Given the description of an element on the screen output the (x, y) to click on. 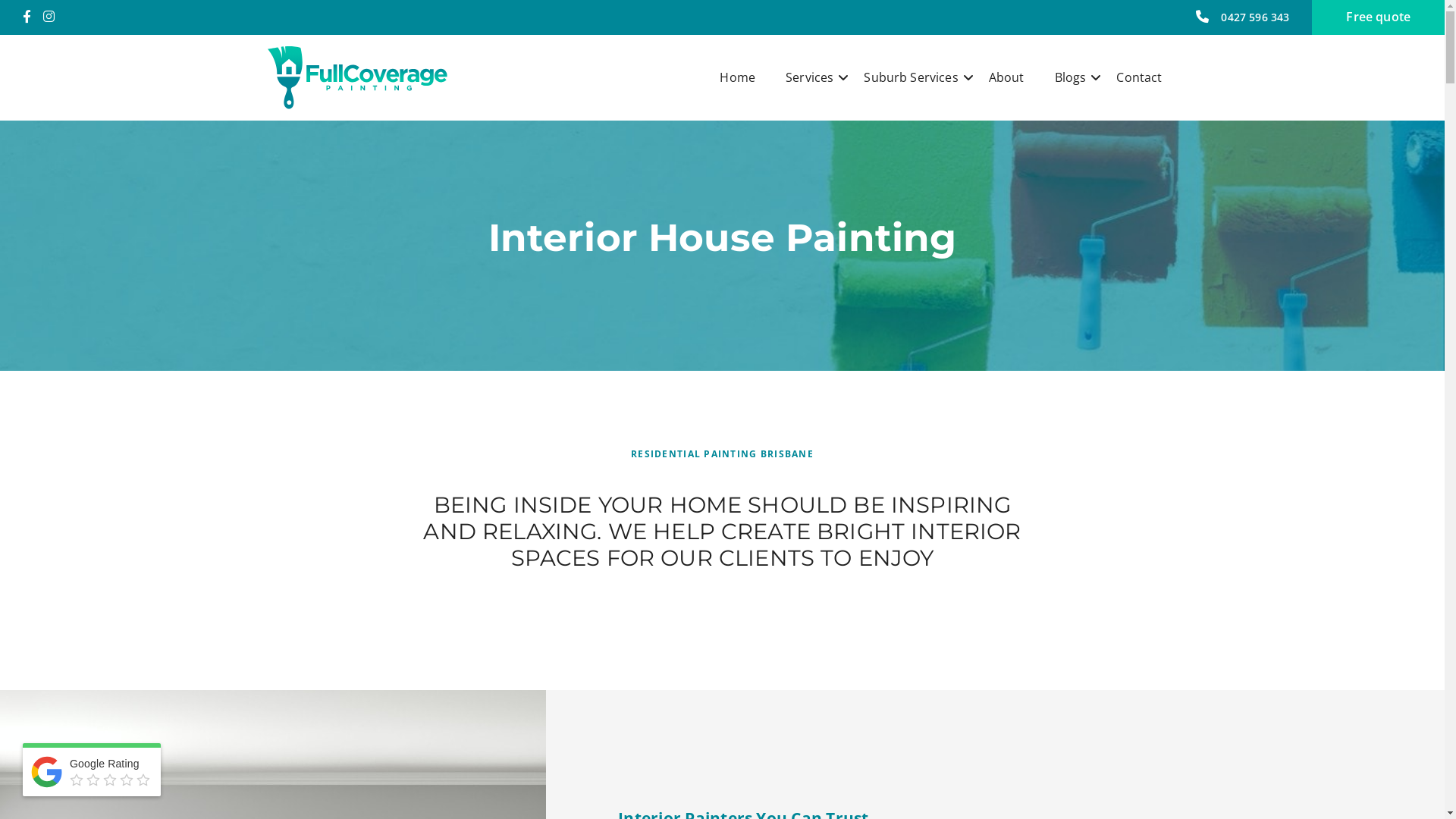
Home Element type: text (737, 76)
Suburb Services Element type: text (910, 76)
About Element type: text (1006, 76)
Free quote Element type: text (1378, 16)
Services Element type: text (809, 76)
0427 596 343 Element type: text (1242, 16)
Blogs Element type: text (1070, 76)
Contact Element type: text (1138, 76)
